Given the description of an element on the screen output the (x, y) to click on. 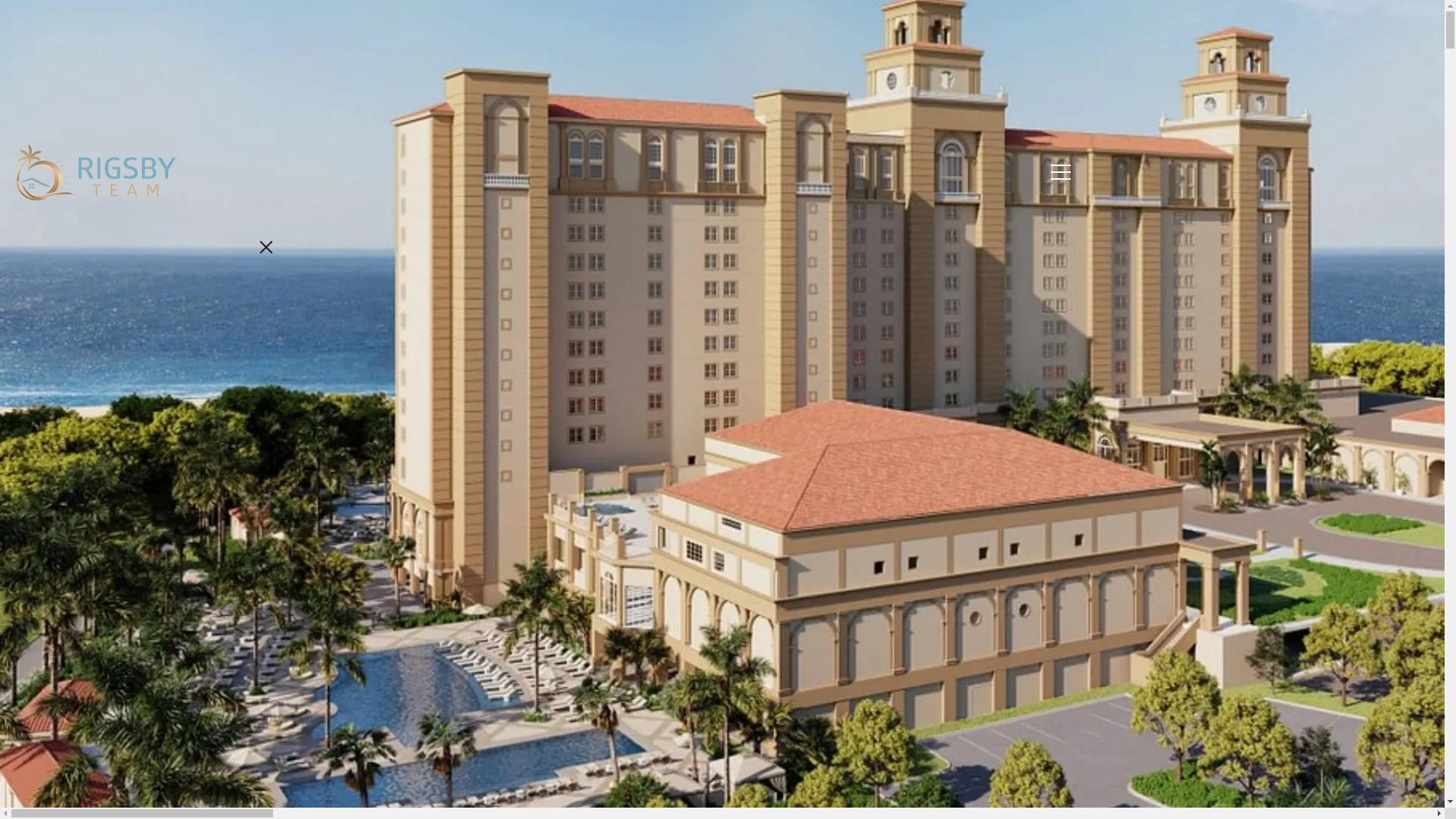
Portfolio (151, 536)
Blog (152, 709)
Meet the Team (151, 407)
Home Search (151, 493)
PORTFOLIO (591, 177)
Explore SWFL Areas (150, 450)
RESOURCES (681, 177)
Home (151, 363)
Contact Us (151, 790)
My Search Portal (151, 814)
CONTACT US (981, 177)
MEET THE TEAM (384, 177)
HOME SEARCH (495, 177)
RIGSBY TEAM AT RENAISSANCE (831, 177)
Rigsby Team at Renaissance (151, 579)
